Given the description of an element on the screen output the (x, y) to click on. 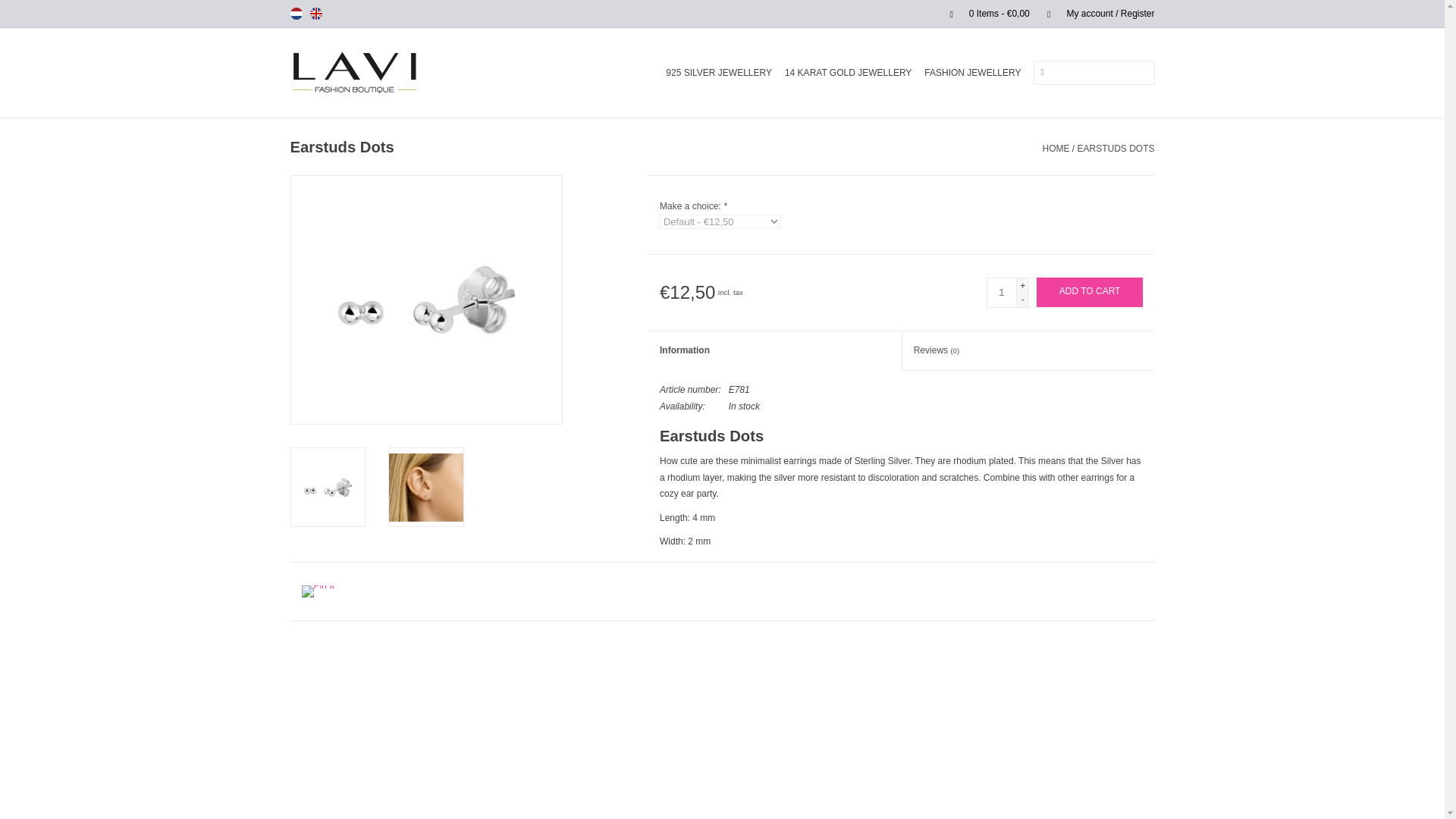
EARSTUDS DOTS (1115, 148)
My account (1093, 13)
925 Silver Jewellery (718, 72)
ADD TO CART (1089, 292)
Nederlands (295, 13)
Cart (983, 13)
Nederlands (295, 13)
Fashion Jewellery (972, 72)
English (314, 13)
